Given the description of an element on the screen output the (x, y) to click on. 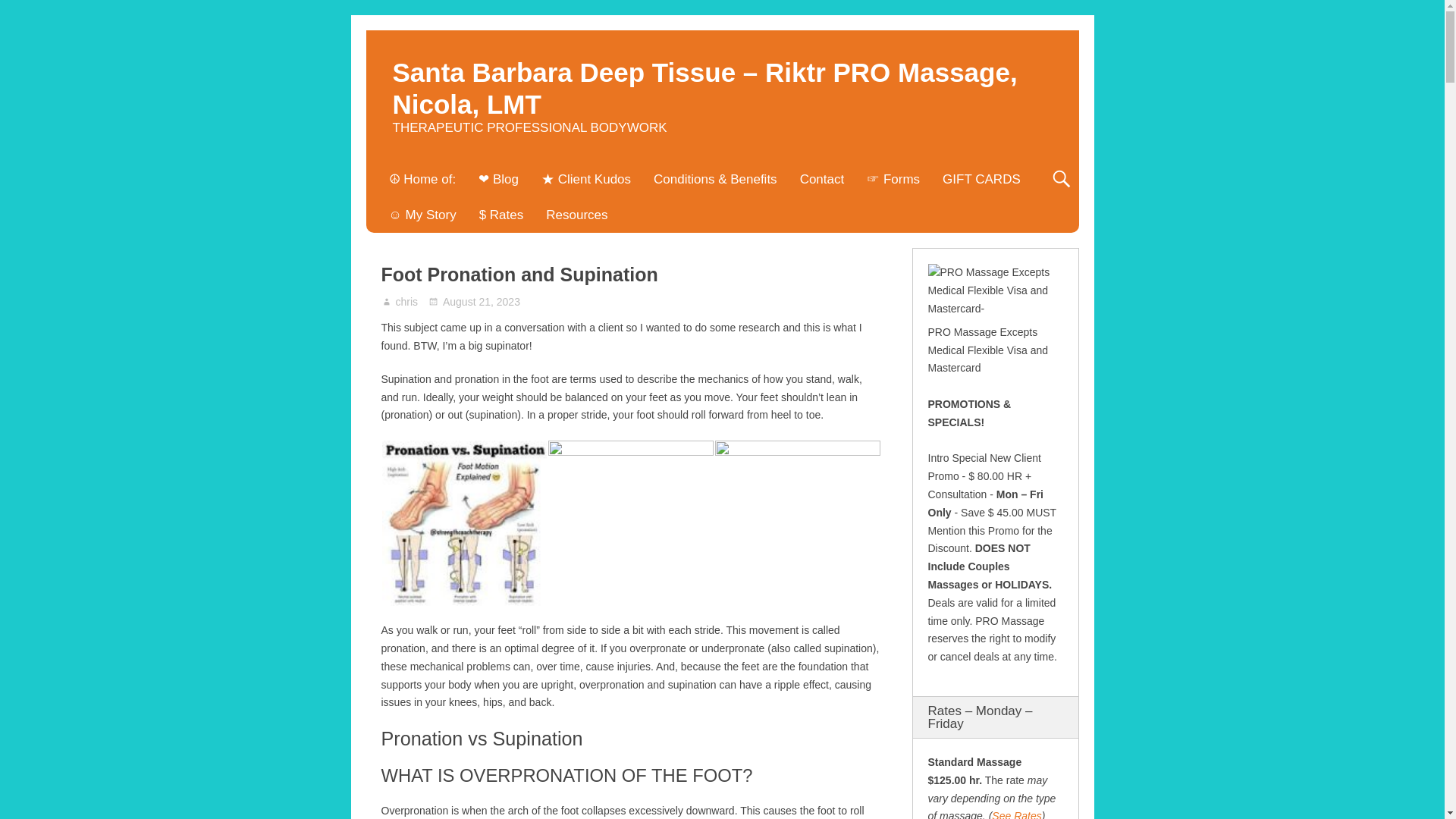
chris (407, 301)
Contact (822, 179)
Resources (576, 214)
Posts by chris (407, 301)
GIFT CARDS (981, 179)
